Given the description of an element on the screen output the (x, y) to click on. 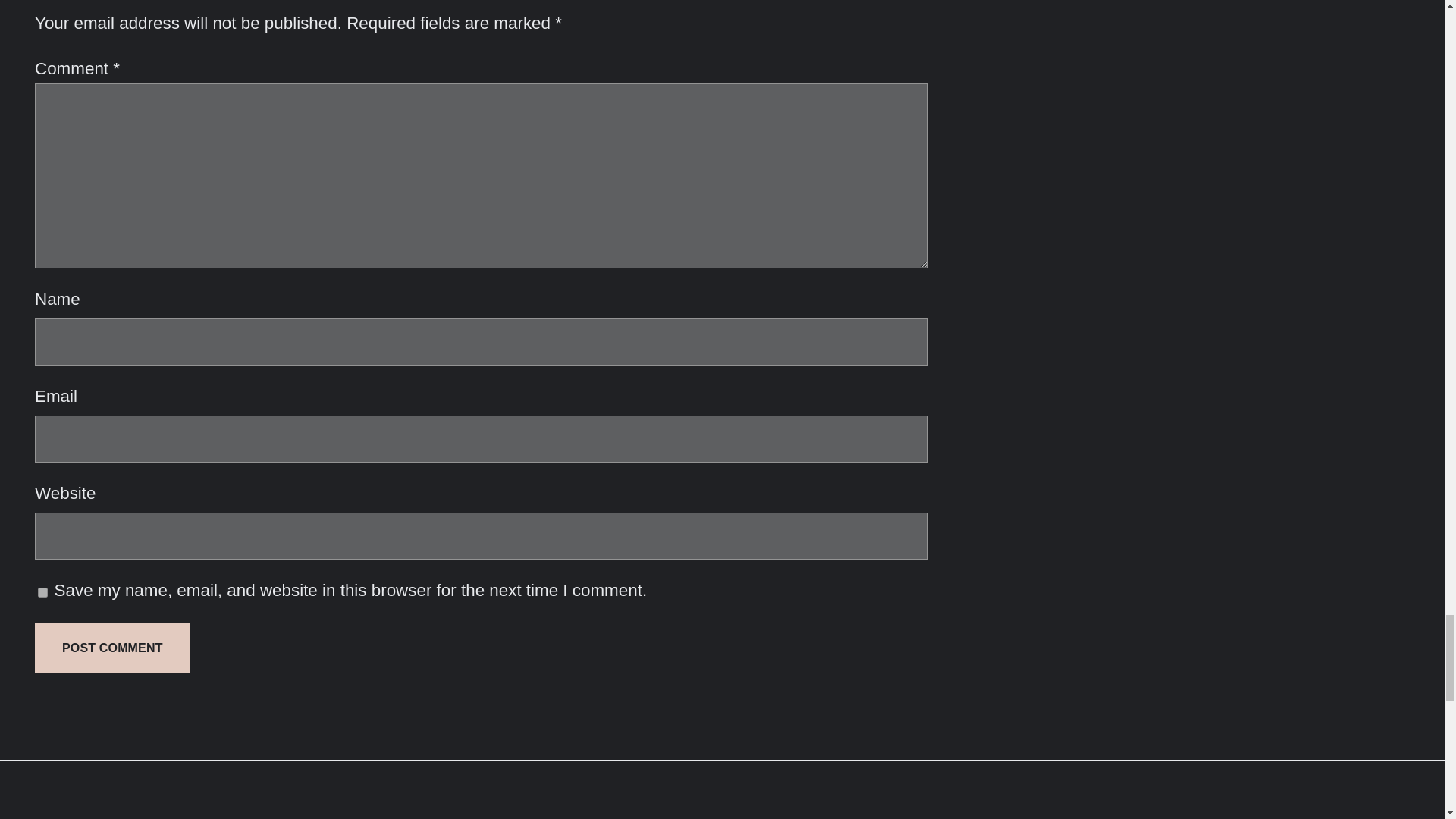
Post Comment (112, 647)
Post Comment (112, 647)
